Given the description of an element on the screen output the (x, y) to click on. 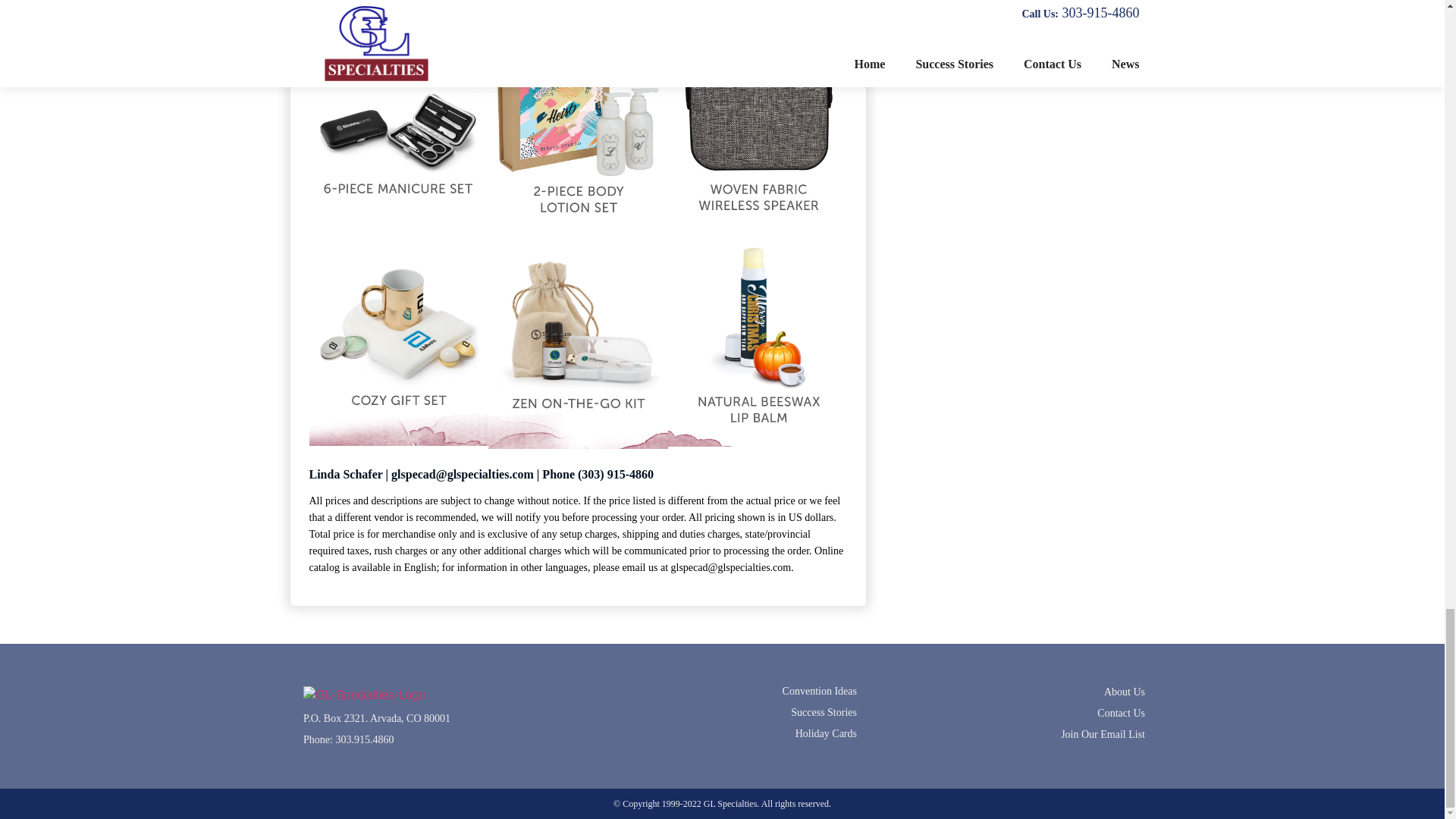
GL-Specialties-Logo (363, 695)
